Given the description of an element on the screen output the (x, y) to click on. 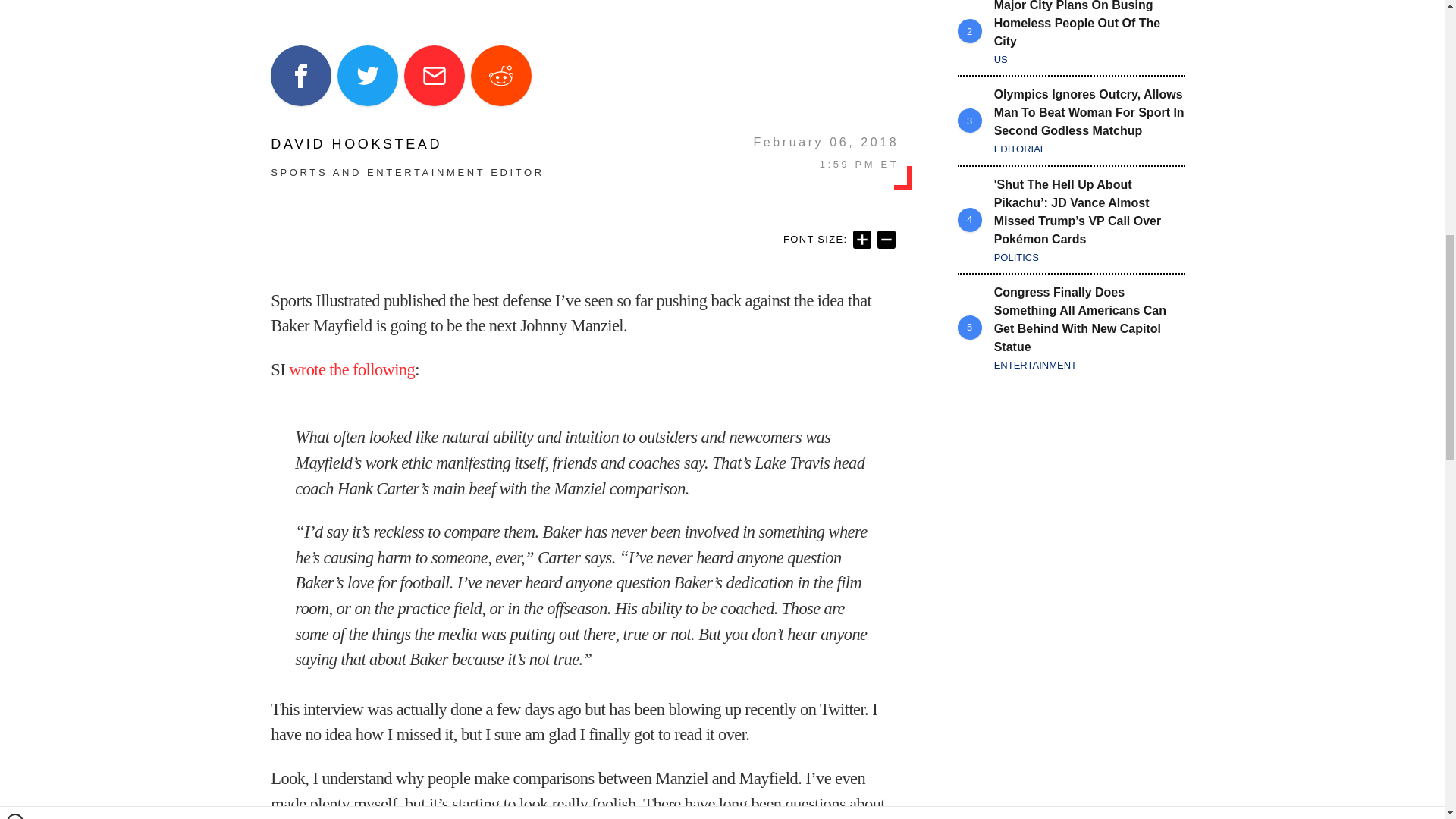
View More Articles By David Hookstead (406, 144)
DAVID HOOKSTEAD (406, 144)
Close window (14, 6)
wrote the following (351, 369)
